Given the description of an element on the screen output the (x, y) to click on. 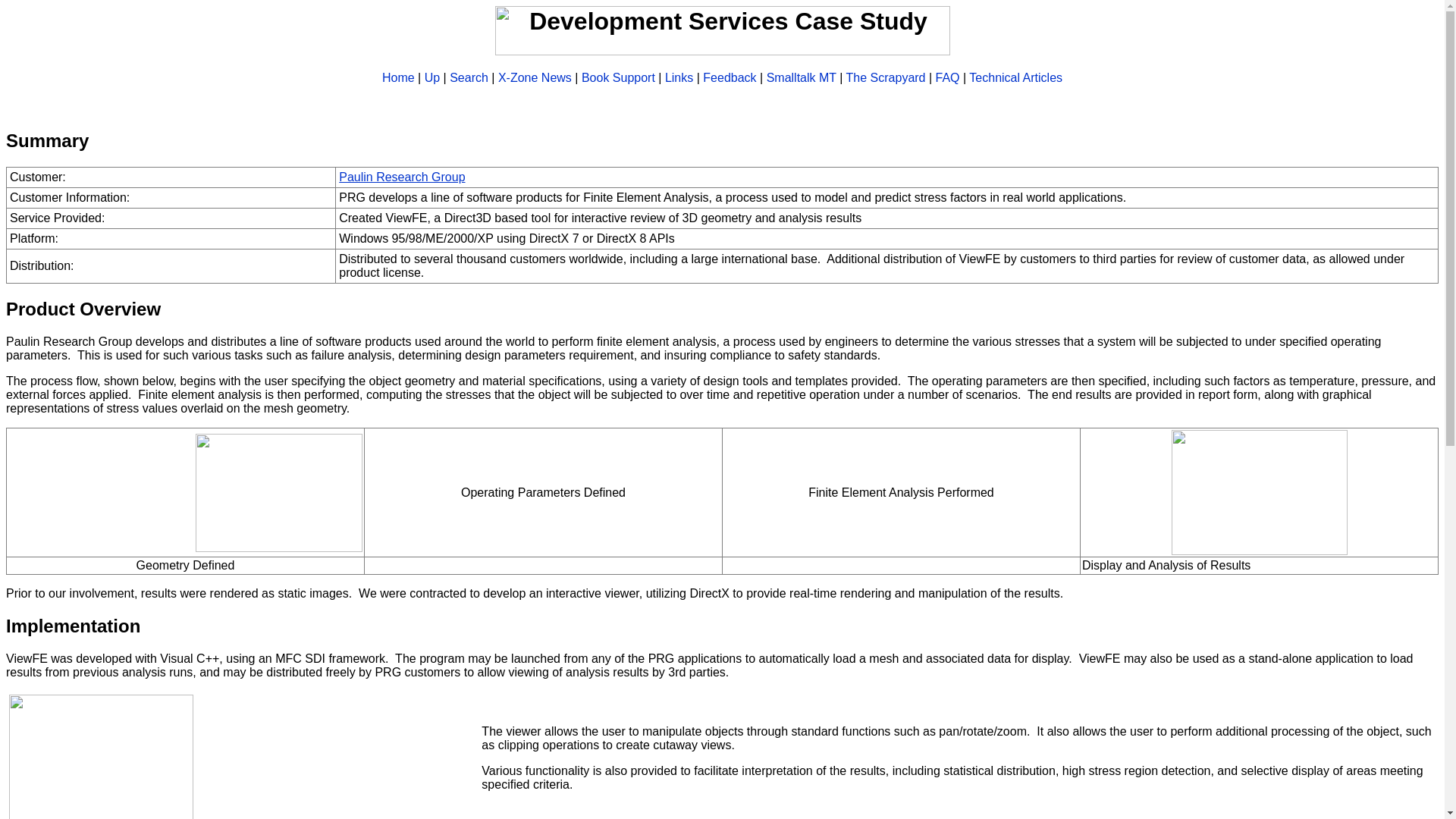
Book Support (617, 77)
X-Zone News (534, 77)
Paulin Research Group (401, 176)
Search (468, 77)
Smalltalk MT (801, 77)
Up (432, 77)
Home (397, 77)
Feedback (729, 77)
Technical Articles (1015, 77)
FAQ (947, 77)
The Scrapyard (885, 77)
Links (679, 77)
